Given the description of an element on the screen output the (x, y) to click on. 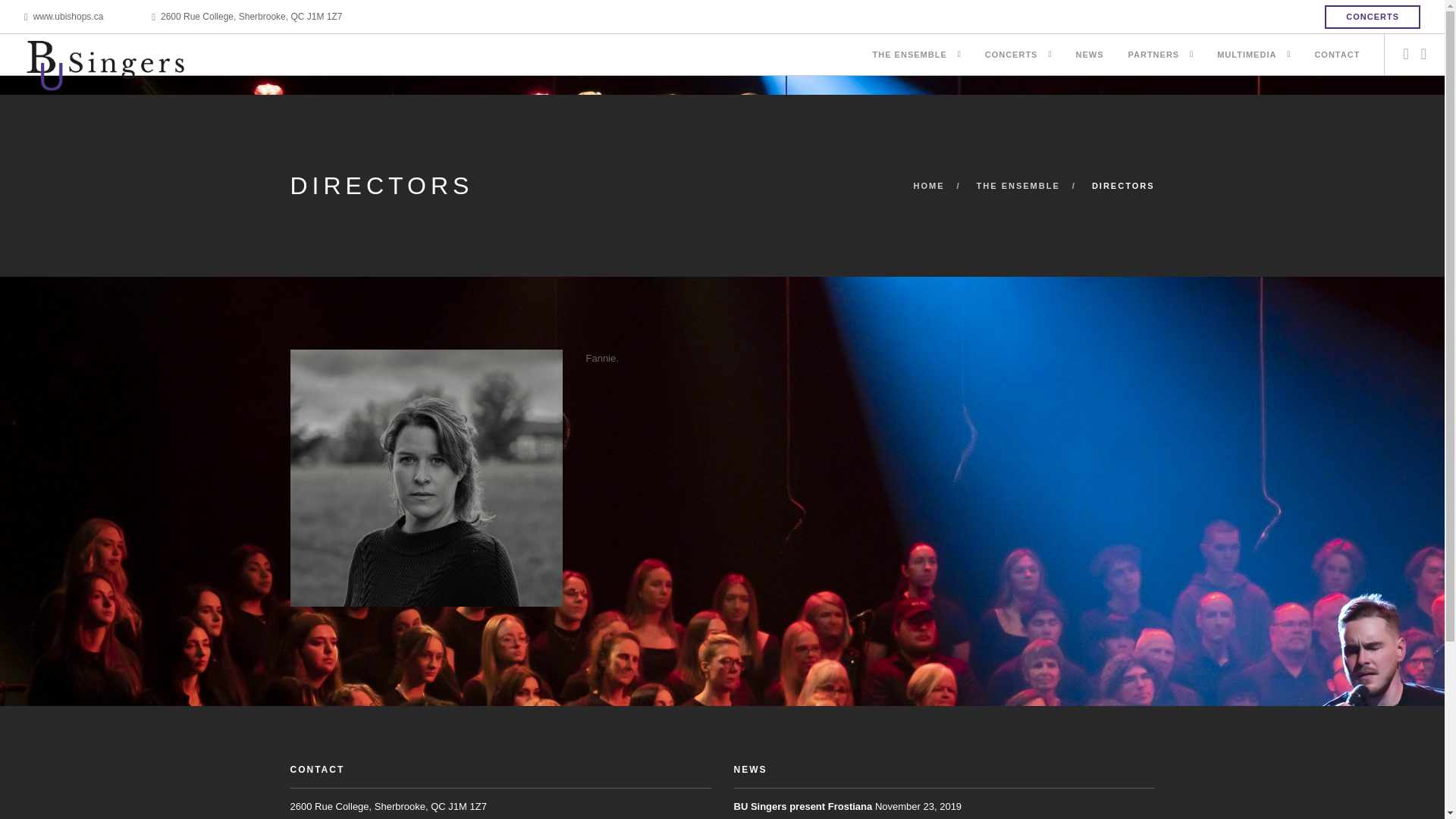
PARTNERS (1152, 55)
CONCERTS (1372, 16)
THE ENSEMBLE (1017, 185)
CONCERTS (1011, 55)
BU Singers present Frostiana (802, 806)
THE ENSEMBLE (909, 55)
CONTACT (1336, 55)
MULTIMEDIA (1246, 55)
HOME (927, 185)
